Given the description of an element on the screen output the (x, y) to click on. 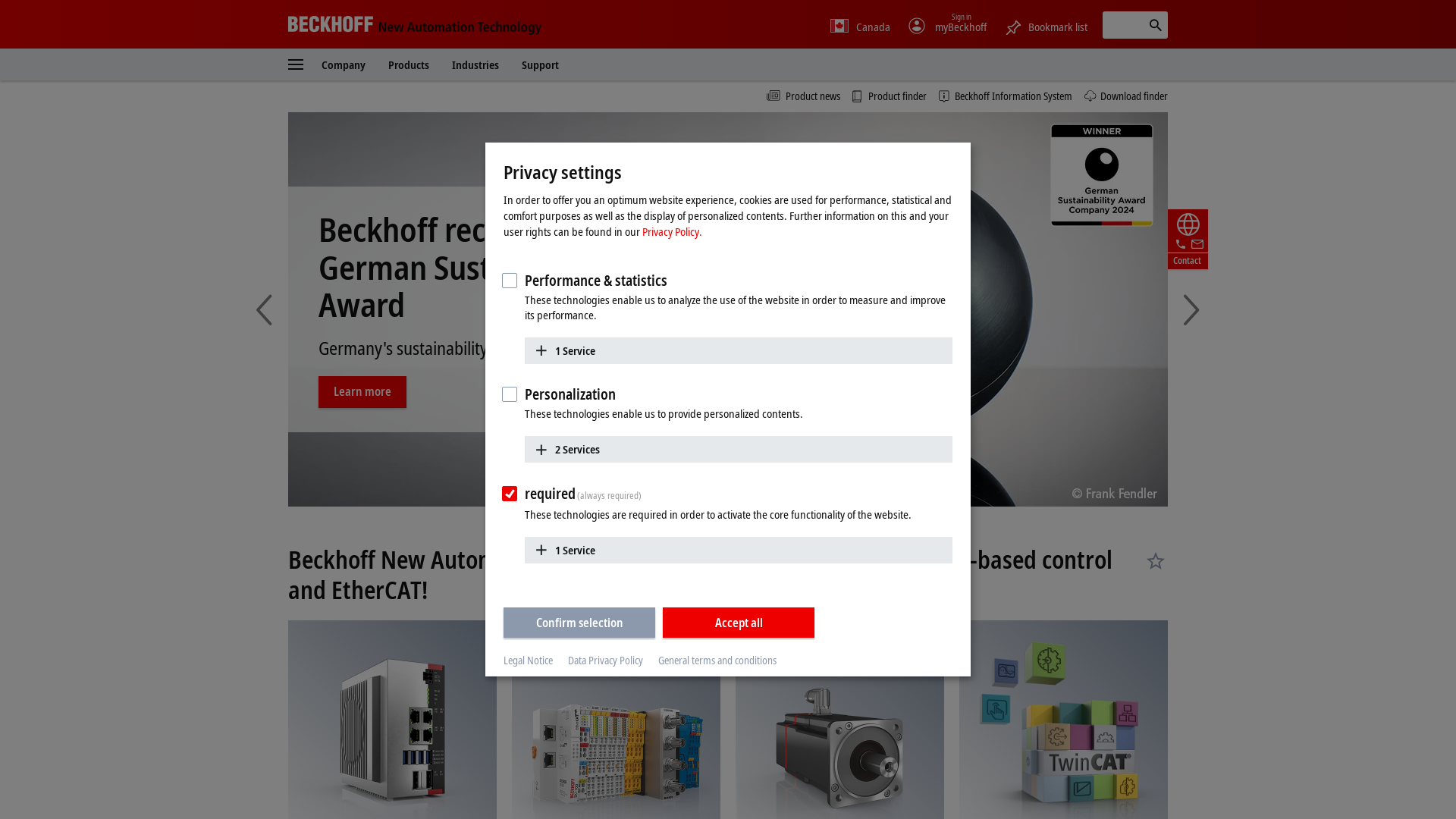
General terms and conditions Element type: text (717, 659)
Products Element type: text (408, 63)
Product finder Element type: text (889, 95)
Privacy Policy. Element type: text (672, 230)
Download finder Element type: text (1125, 95)
Product news Element type: text (803, 95)
Beckhoff Information System Element type: text (1005, 95)
Data Privacy Policy Element type: text (605, 659)
1 Service Element type: text (738, 549)
Learn more Element type: text (362, 373)
Bookmark list Element type: text (1045, 24)
Confirm selection Element type: text (579, 621)
Beckhoff - New Automation Technology Element type: text (414, 23)
Accept all Element type: text (738, 621)
Company Element type: text (343, 63)
myBeckhoff
Sign in Element type: text (946, 26)
2 Services Element type: text (738, 449)
Support Element type: text (539, 63)
Beckhoff receives the 2024 German Sustainability Award Element type: hover (727, 309)
Canada Element type: text (860, 26)
Contact Element type: text (1187, 239)
Legal Notice Element type: text (527, 659)
1 Service Element type: text (738, 349)
Industries Element type: text (474, 63)
